Given the description of an element on the screen output the (x, y) to click on. 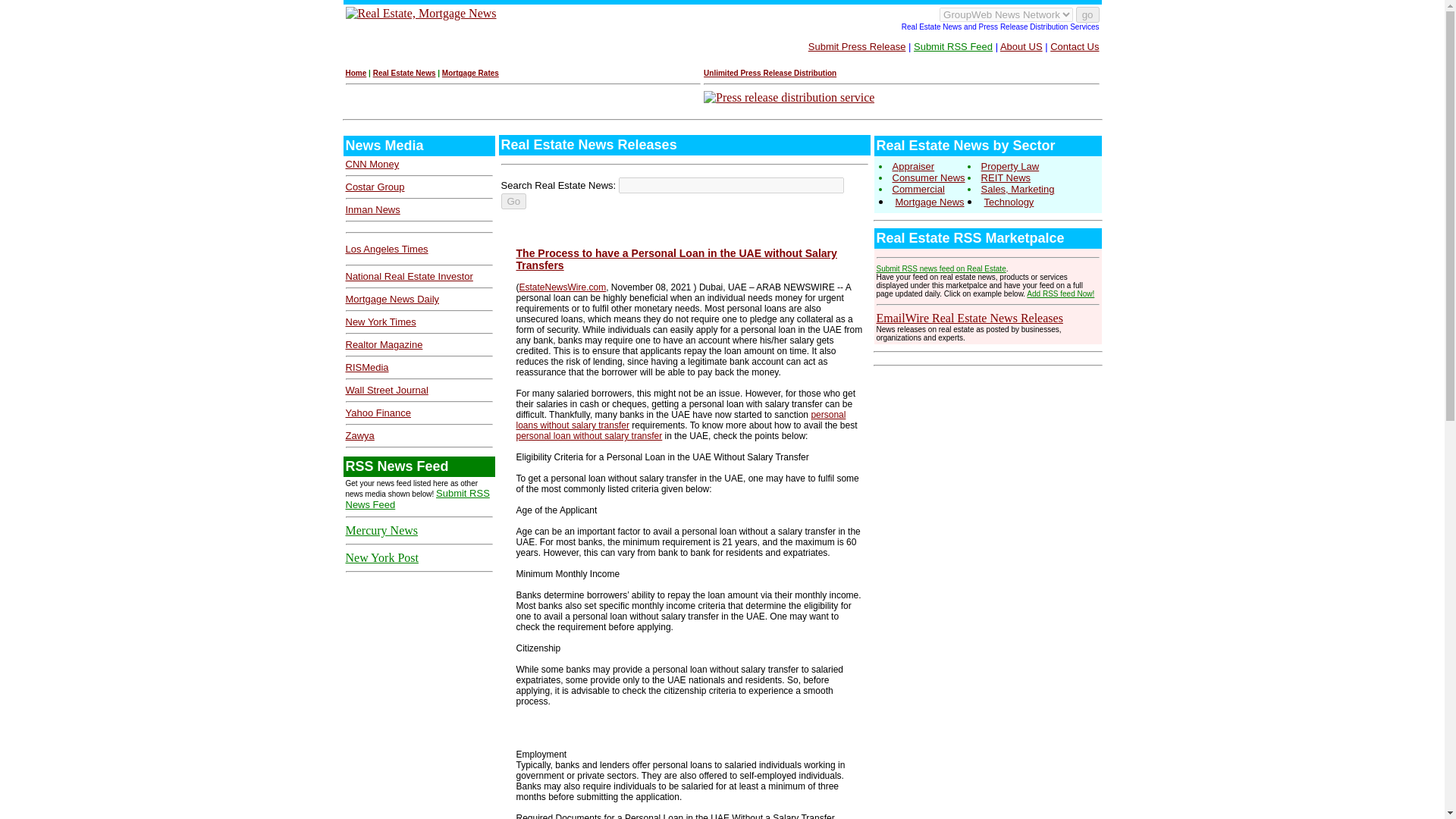
Mortgage News Daily (392, 298)
personal loan without salary transfer (588, 435)
Zawya (360, 435)
Real Estate News (403, 72)
Submit Press Release (856, 46)
Submit RSS News Feed (417, 498)
go (1087, 14)
Mercury News (382, 530)
Costar Group (375, 186)
Inman News (373, 209)
Consumer News (927, 177)
Home (356, 72)
Wall Street Journal (387, 389)
go (1087, 14)
